Given the description of an element on the screen output the (x, y) to click on. 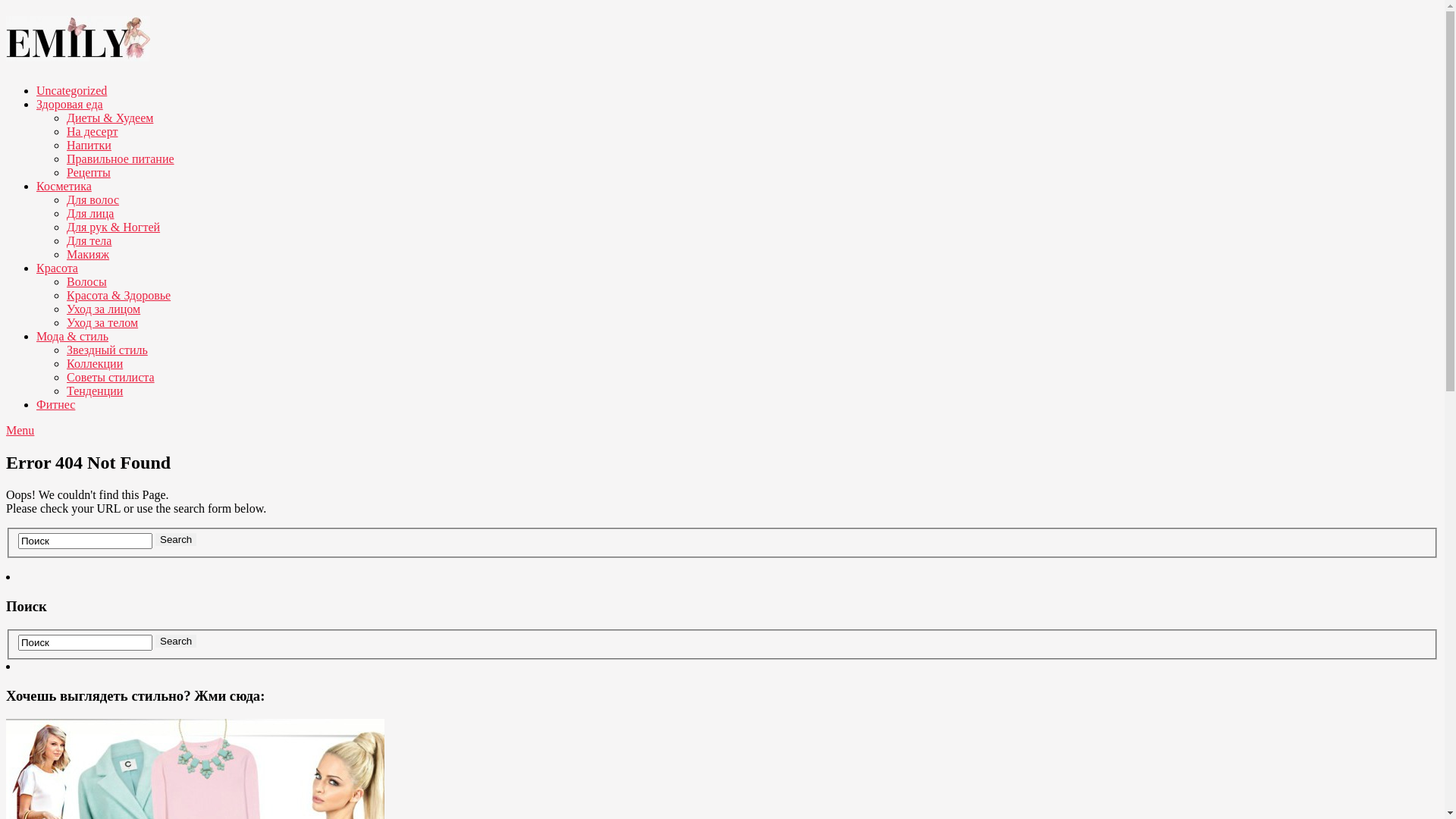
Search Element type: text (175, 539)
Uncategorized Element type: text (71, 90)
Menu Element type: text (20, 429)
Search Element type: text (175, 640)
